Given the description of an element on the screen output the (x, y) to click on. 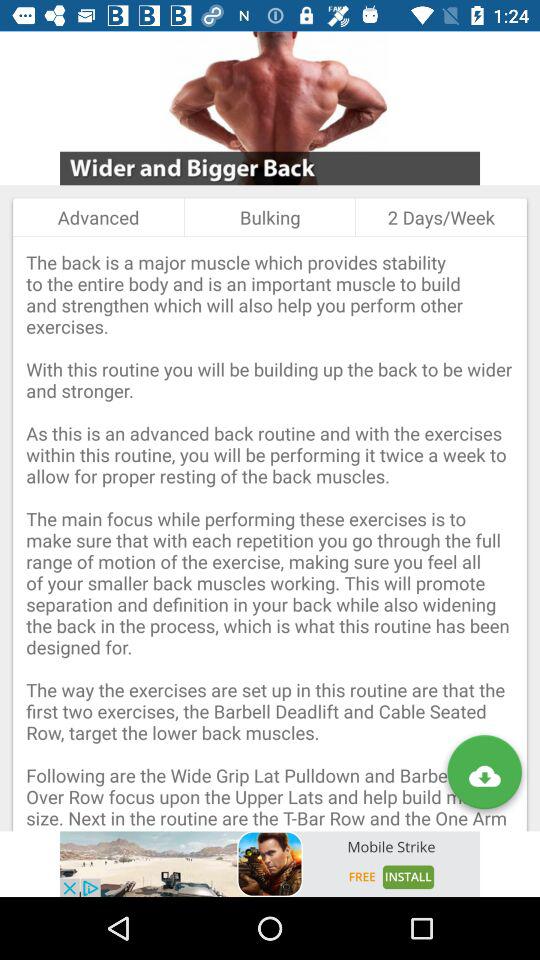
select icon to the left of the bulking item (98, 217)
